Given the description of an element on the screen output the (x, y) to click on. 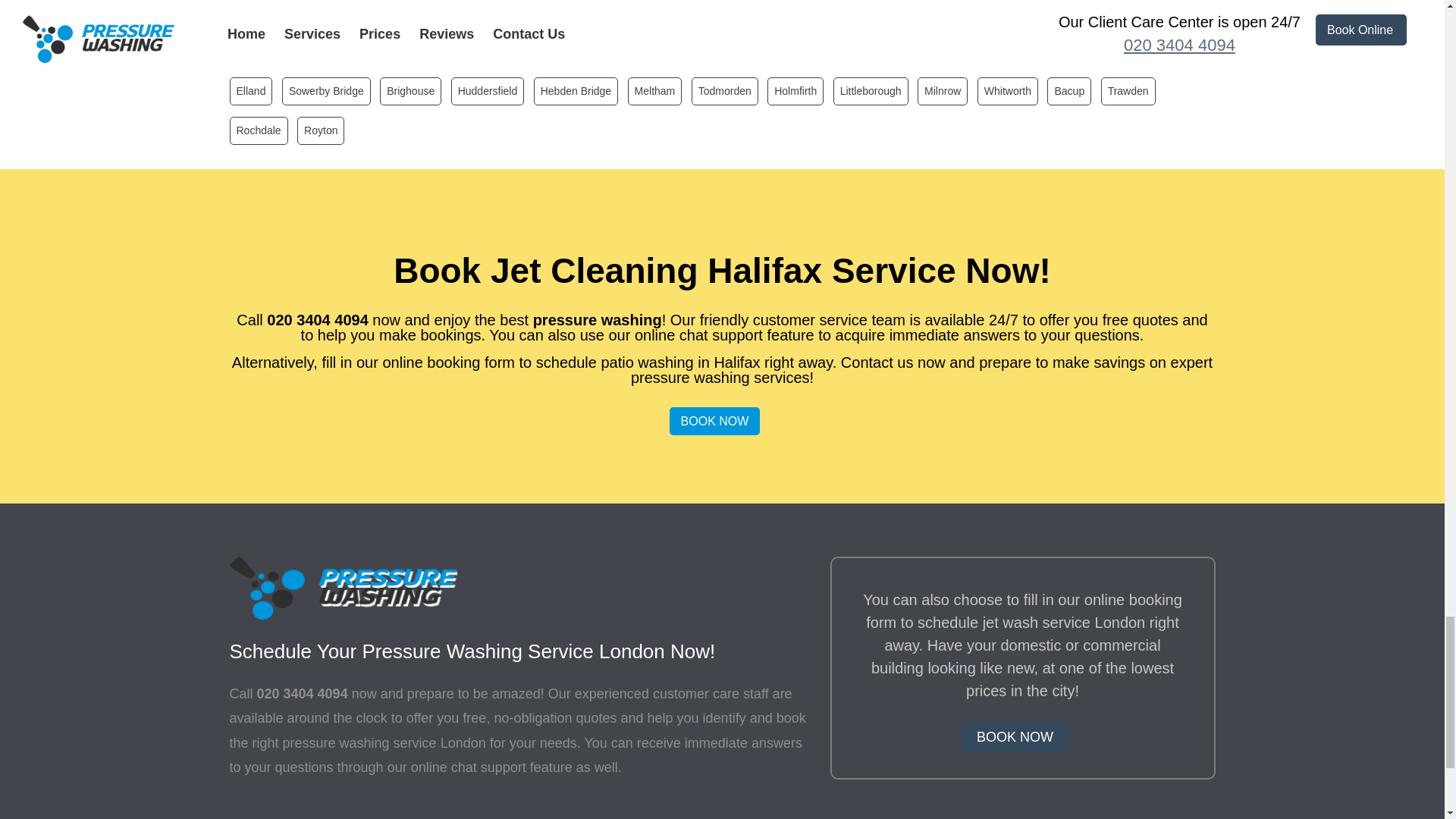
Brighouse (410, 90)
Sowerby Bridge (326, 90)
Elland (250, 90)
Milnrow (942, 90)
Meltham (654, 90)
Todmorden (724, 90)
Elland (250, 90)
Huddersfield (487, 90)
Hebden Bridge (575, 90)
Littleborough (870, 90)
Sowerby Bridge (326, 90)
Whitworth (1007, 90)
Hebden Bridge (575, 90)
Meltham (654, 90)
Huddersfield (487, 90)
